Given the description of an element on the screen output the (x, y) to click on. 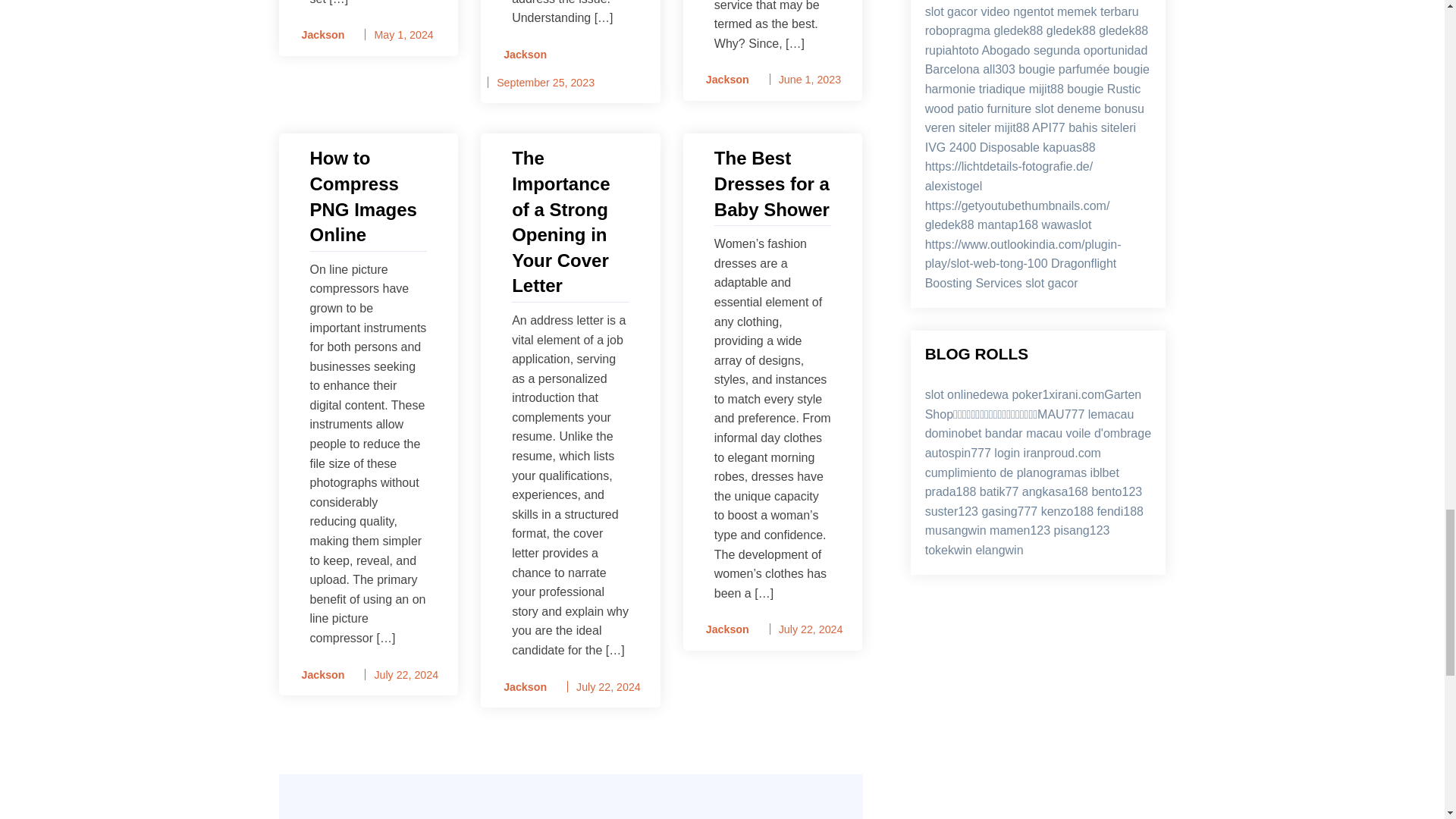
June 1, 2023 (809, 79)
July 22, 2024 (406, 674)
Jackson (520, 687)
Jackson (318, 674)
Jackson (520, 54)
How to Compress PNG Images Online (367, 196)
Jackson (722, 79)
Jackson (722, 629)
May 1, 2024 (403, 34)
September 25, 2023 (545, 82)
July 22, 2024 (608, 686)
July 22, 2024 (810, 629)
The Best Dresses for a Baby Shower (772, 183)
Jackson (318, 35)
